Given the description of an element on the screen output the (x, y) to click on. 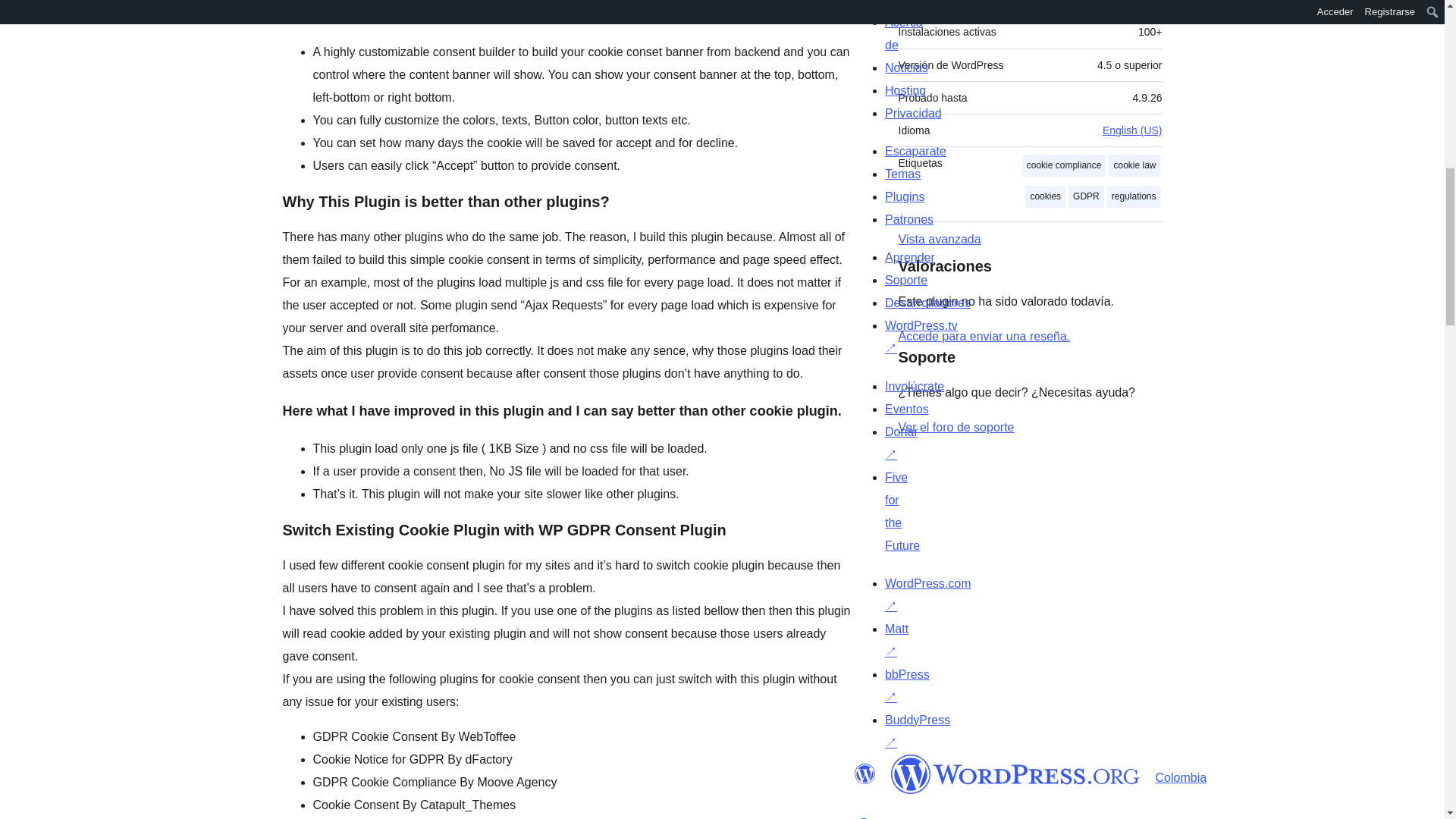
Acceder a WordPress.org (984, 336)
WordPress.org (1014, 773)
WordPress.org (864, 773)
